Given the description of an element on the screen output the (x, y) to click on. 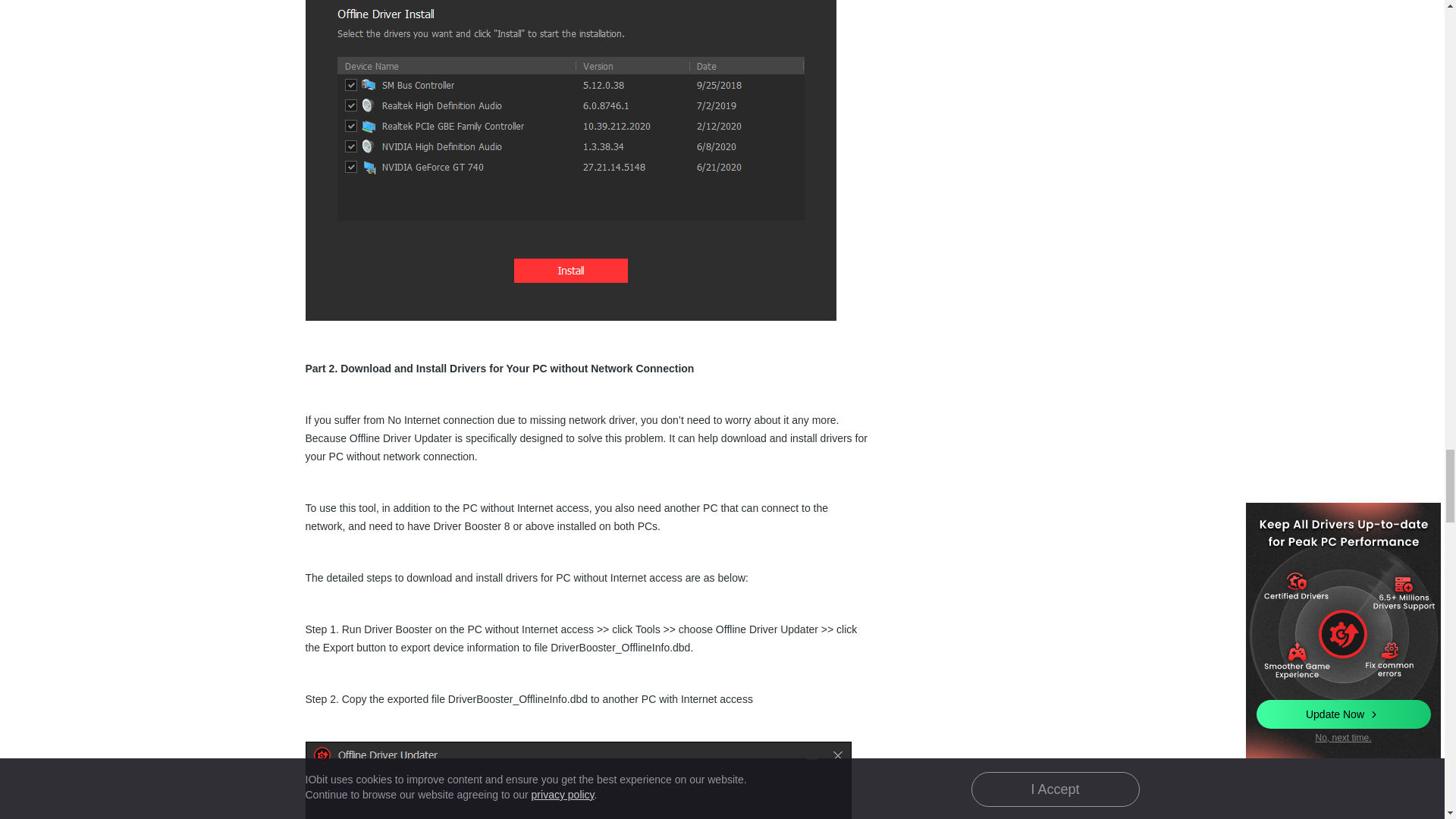
1599727904294400.png (577, 780)
